Given the description of an element on the screen output the (x, y) to click on. 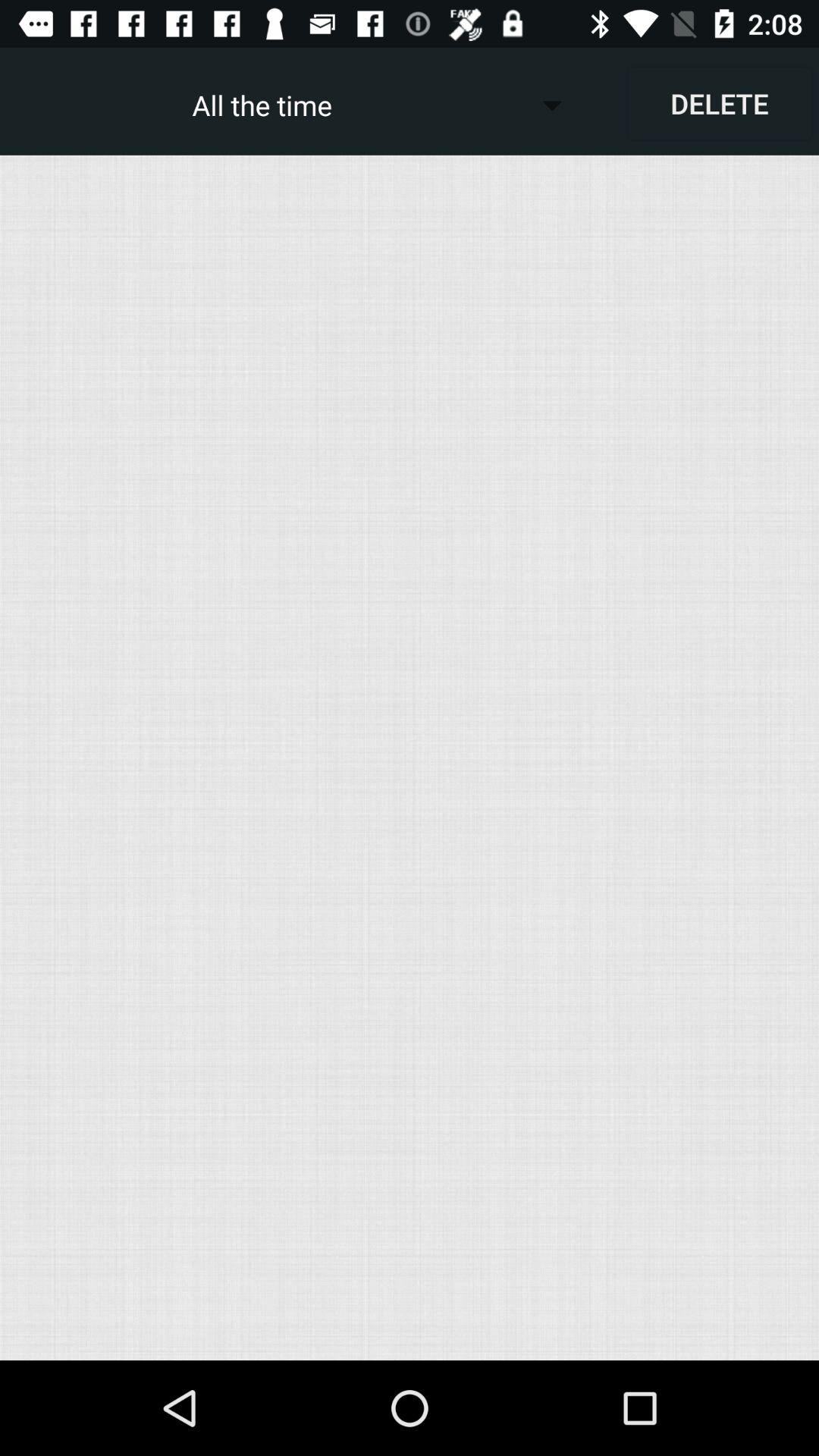
tap the item at the center (409, 757)
